Given the description of an element on the screen output the (x, y) to click on. 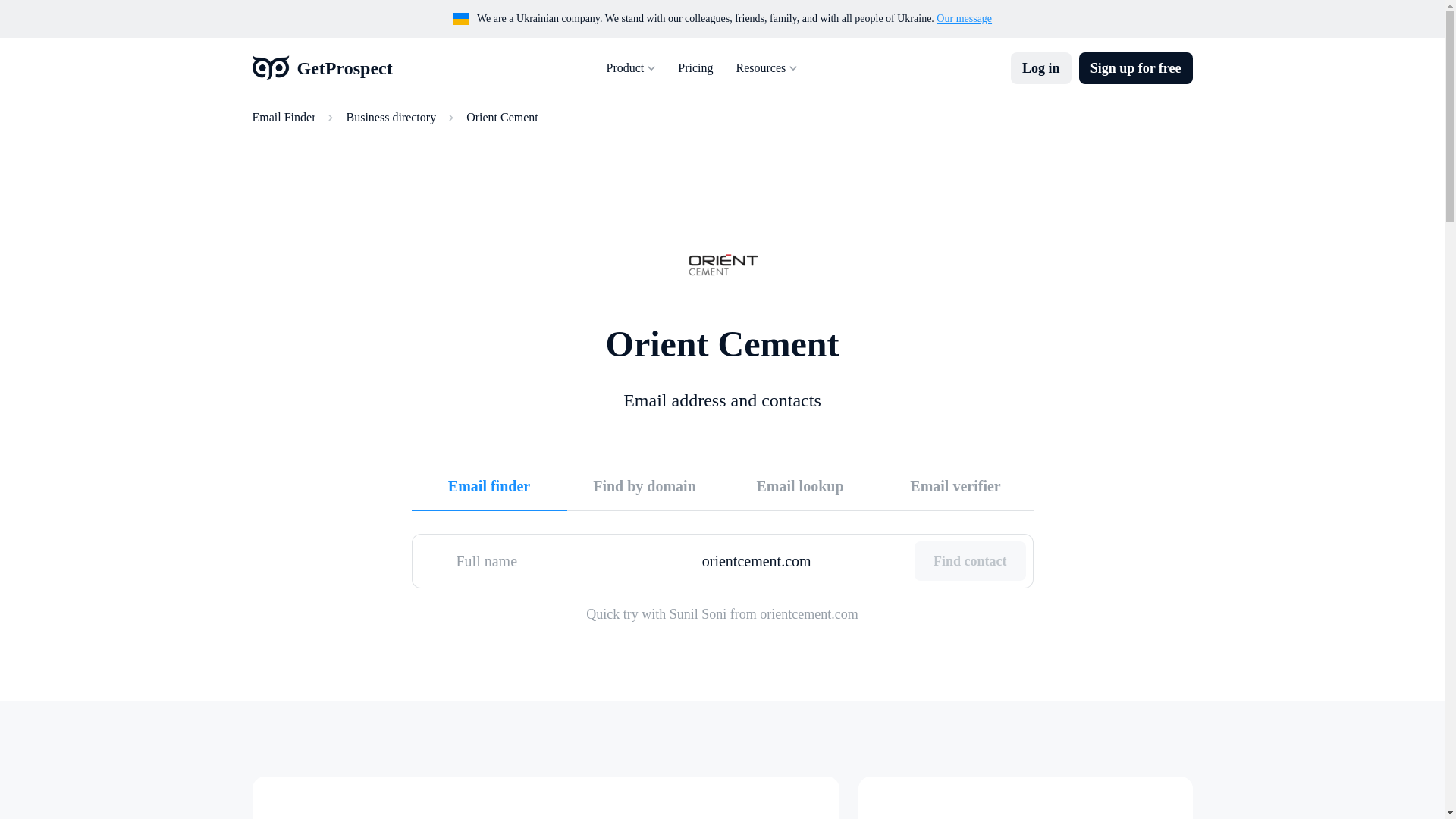
Business directory (390, 117)
Email verifier (955, 485)
Find by domain (644, 485)
Email lookup (799, 485)
Our message (963, 18)
orientcement.com (801, 560)
orientcement.com (801, 560)
Email Finder (283, 117)
GetProspect (321, 68)
Pricing (694, 68)
Sign up for free (1135, 68)
Find contact (970, 560)
Email finder (488, 485)
Log in (1040, 68)
